Given the description of an element on the screen output the (x, y) to click on. 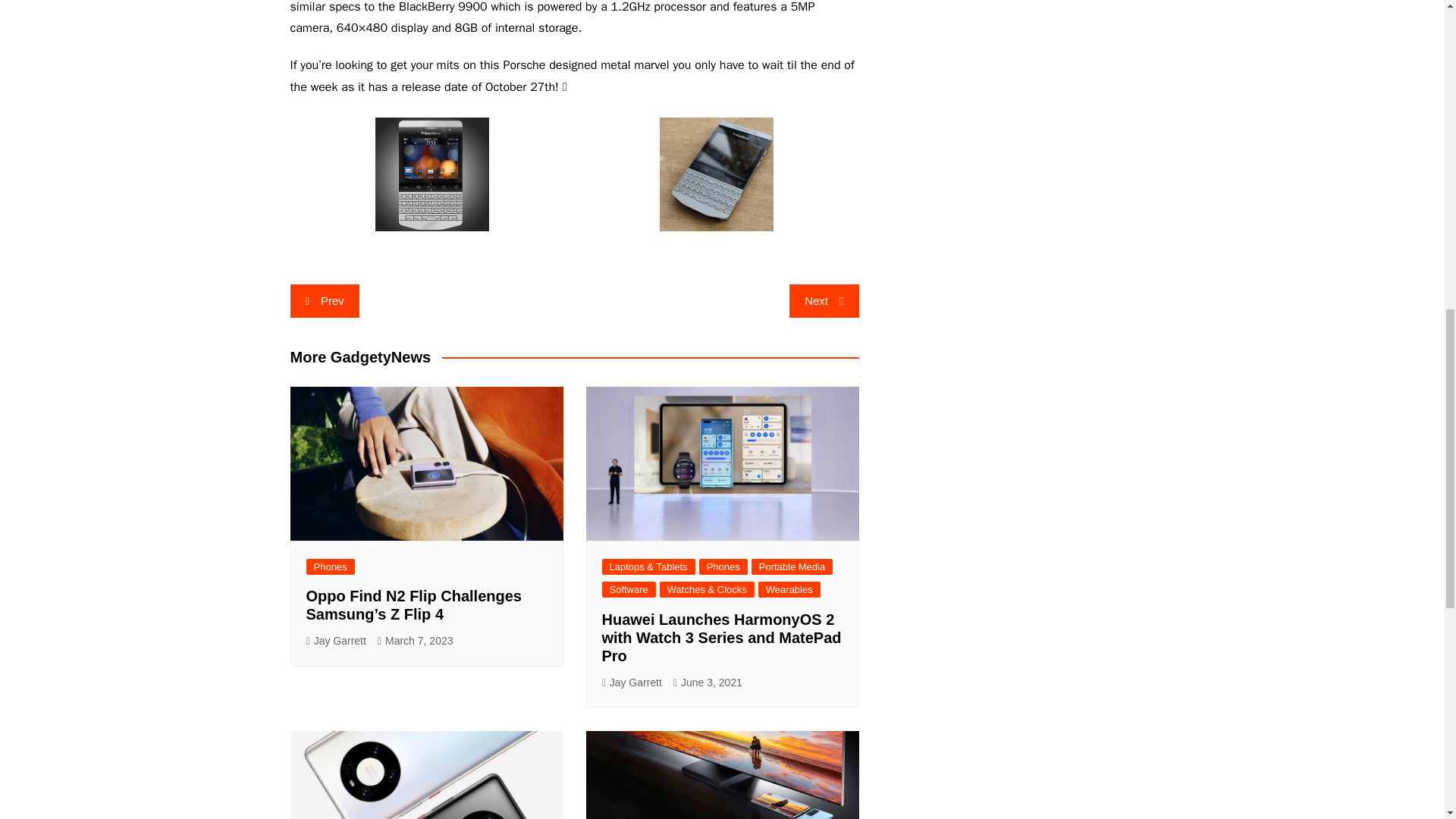
Phones (330, 566)
Next (824, 300)
Prev (323, 300)
